Given the description of an element on the screen output the (x, y) to click on. 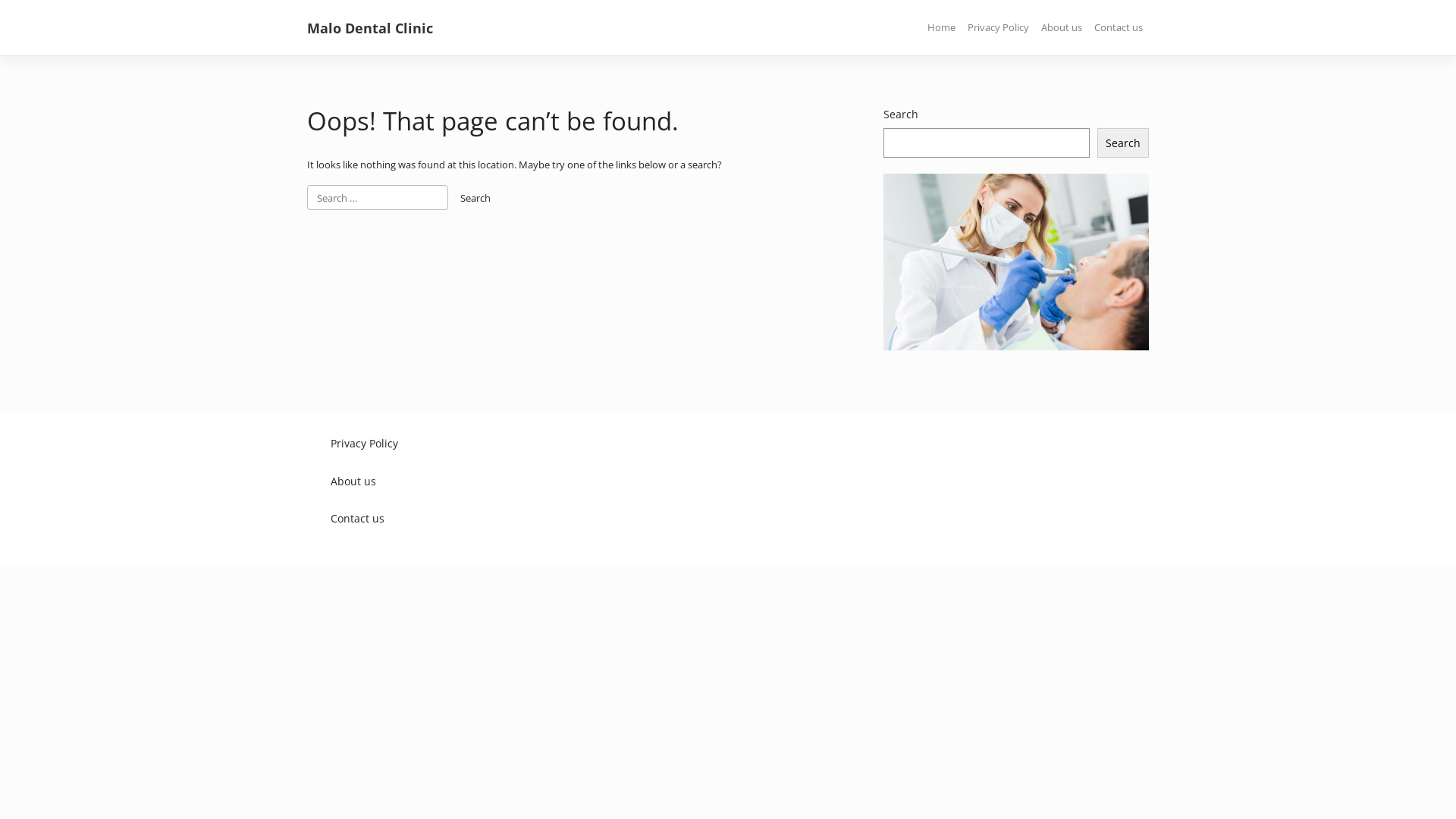
About us Element type: text (447, 480)
Home Element type: text (941, 27)
Search for: Element type: hover (377, 197)
About us Element type: text (1061, 27)
Search Element type: text (1122, 142)
Contact us Element type: text (447, 518)
Search Element type: text (475, 198)
Privacy Policy Element type: text (998, 27)
Contact us Element type: text (1118, 27)
Privacy Policy Element type: text (447, 442)
Malo Dental Clinic Element type: text (370, 27)
